Given the description of an element on the screen output the (x, y) to click on. 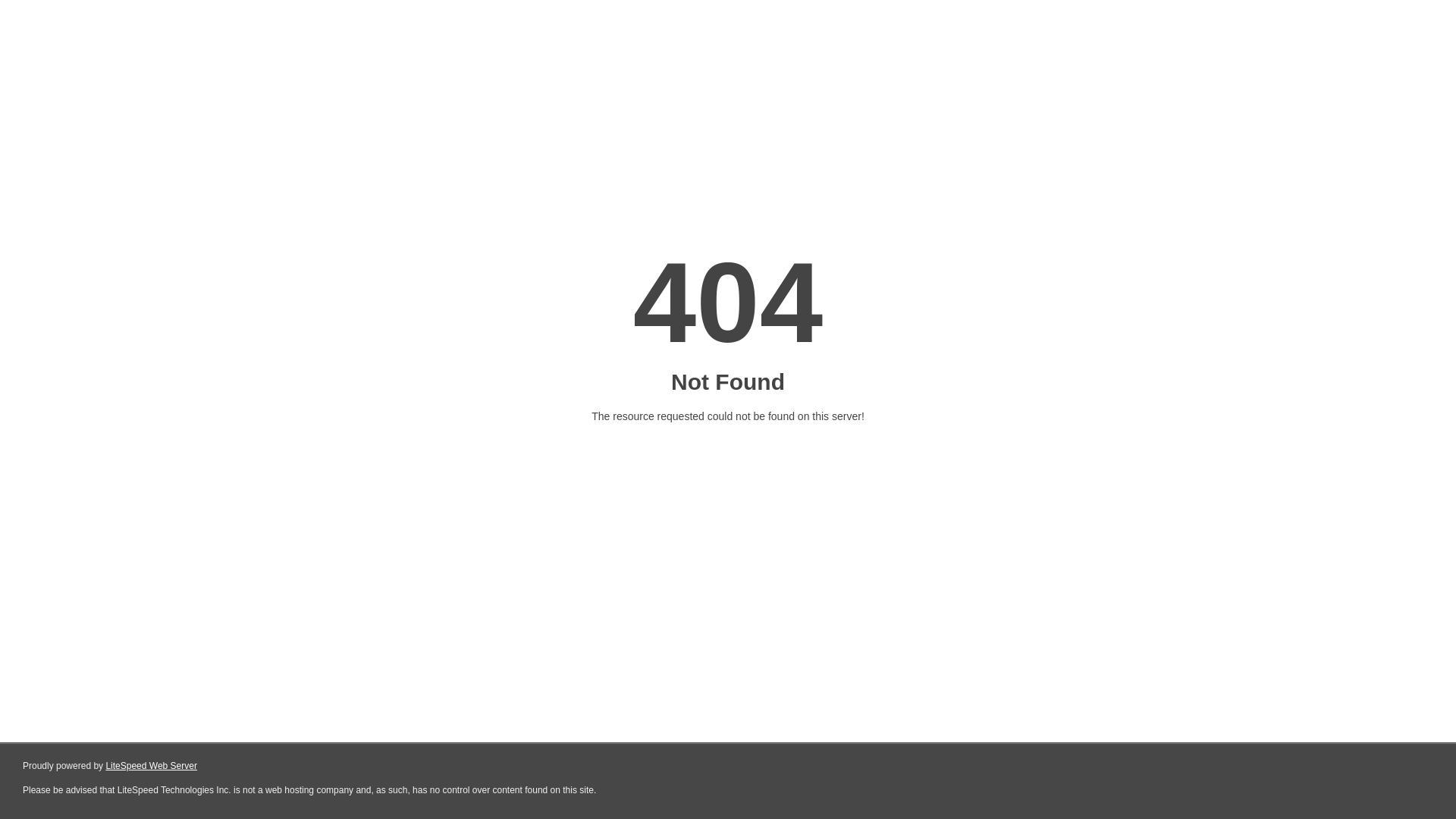
LiteSpeed Web Server Element type: text (151, 765)
